Given the description of an element on the screen output the (x, y) to click on. 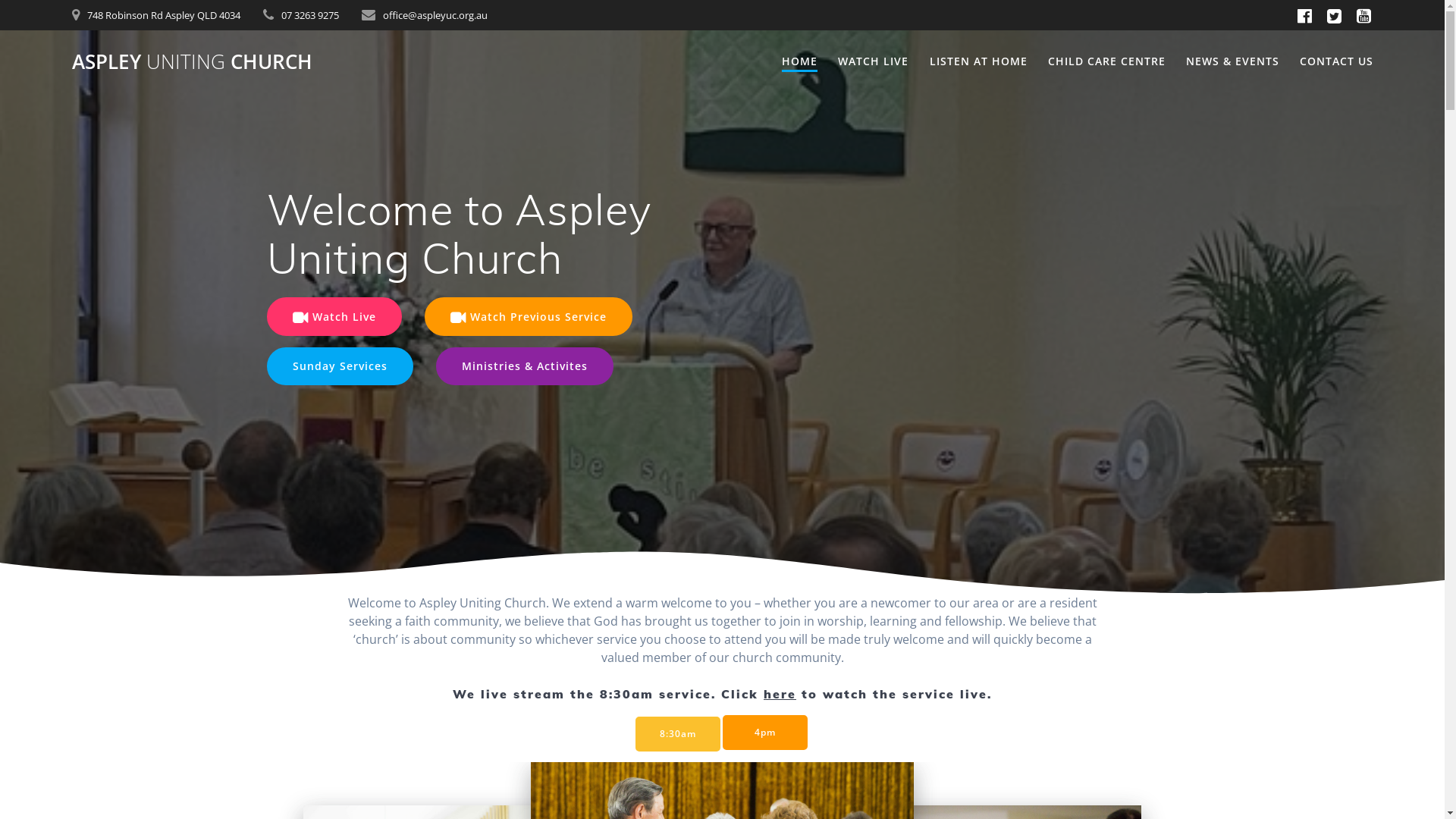
4pm Element type: text (763, 732)
Watch Live Element type: text (333, 316)
LISTEN AT HOME Element type: text (978, 62)
here Element type: text (779, 693)
8:30am Element type: text (677, 733)
HOME Element type: text (799, 62)
WATCH LIVE Element type: text (872, 62)
NEWS & EVENTS Element type: text (1232, 62)
Ministries & Activites Element type: text (523, 366)
Sunday Services Element type: text (339, 366)
CHILD CARE CENTRE Element type: text (1106, 62)
CONTACT US Element type: text (1336, 62)
ASPLEY UNITING CHURCH Element type: text (192, 62)
Watch Previous Service Element type: text (528, 316)
